Given the description of an element on the screen output the (x, y) to click on. 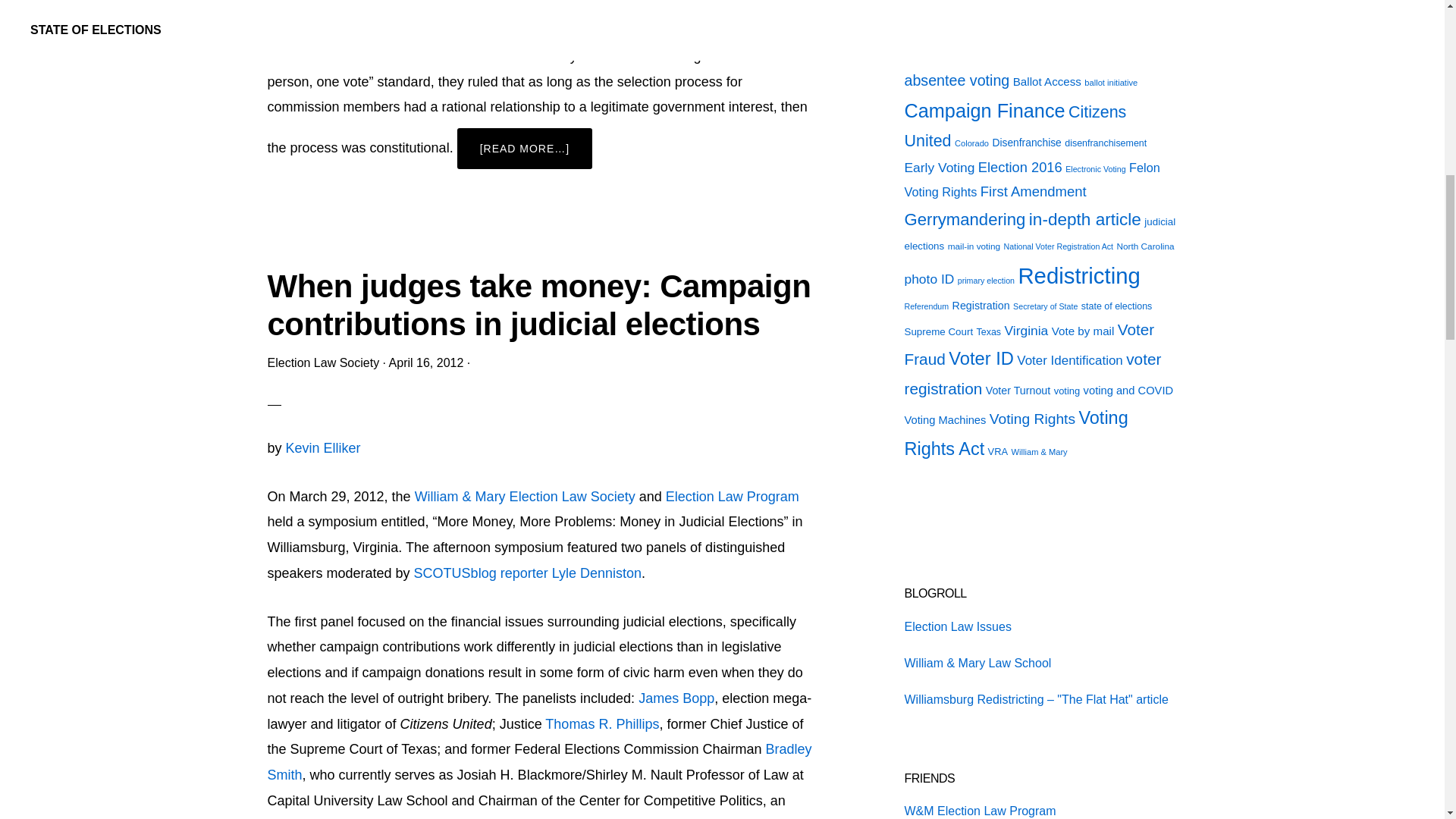
Bradley Smith (538, 762)
Thomas R. Phillips (601, 724)
Election Law Society (322, 362)
James Bopp (676, 698)
Kevin Elliker (323, 447)
Election Law Program (732, 496)
SCOTUSblog reporter Lyle Denniston (527, 572)
